Given the description of an element on the screen output the (x, y) to click on. 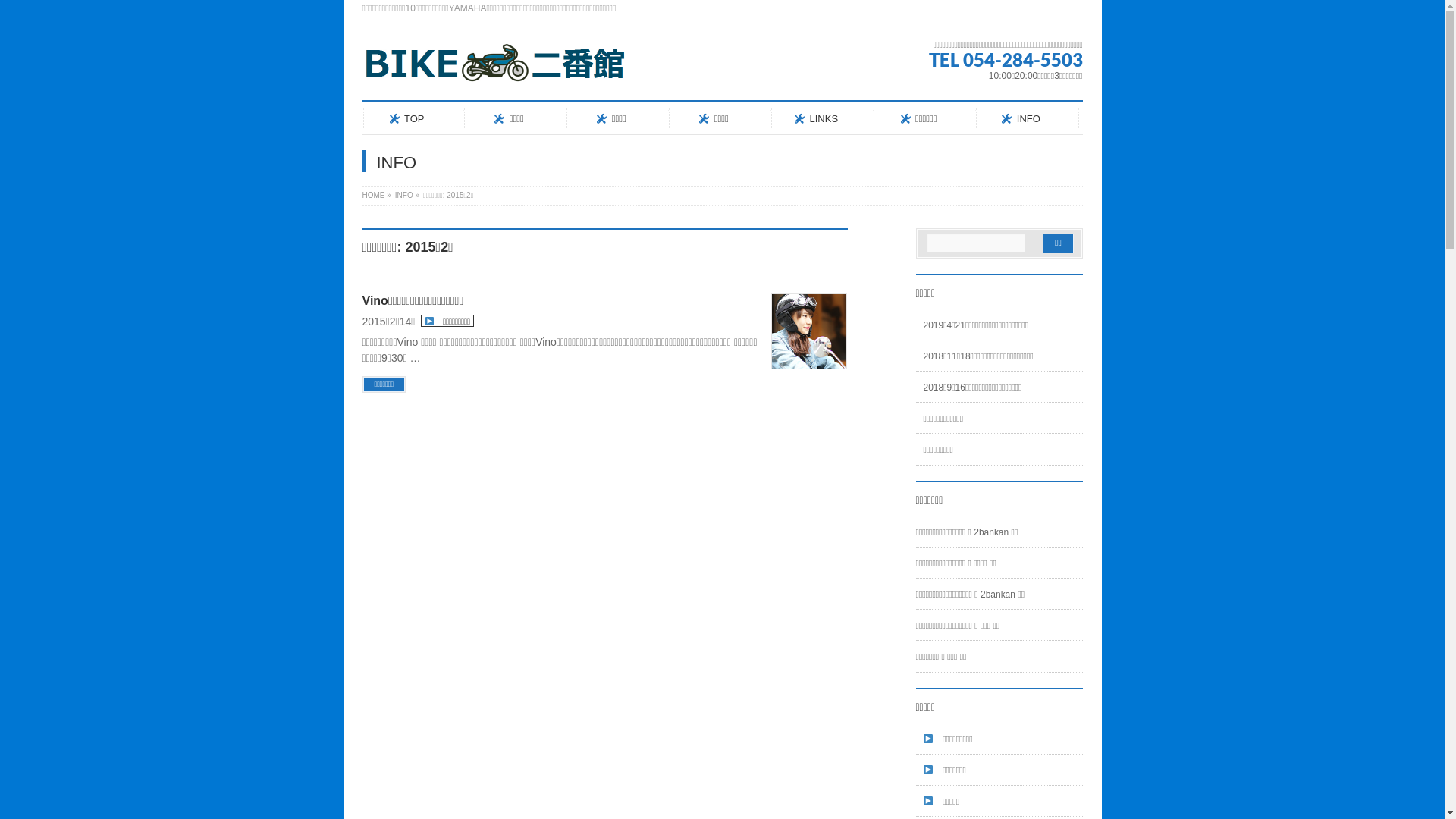
INFO Element type: text (1027, 117)
LINKS Element type: text (822, 117)
HOME Element type: text (373, 195)
TOP Element type: text (413, 117)
